Given the description of an element on the screen output the (x, y) to click on. 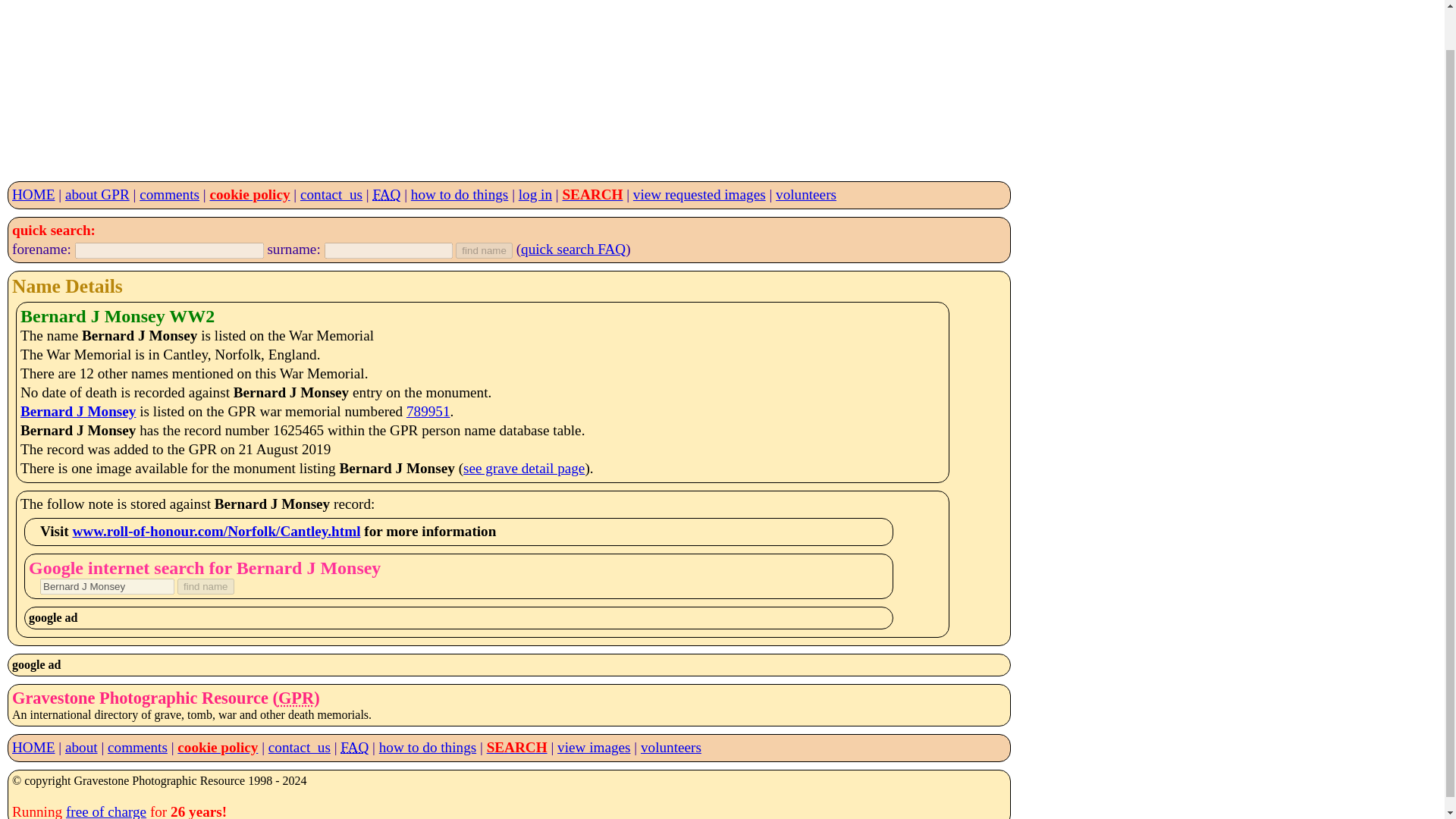
Bernard J Monsey (107, 586)
how to do things (427, 747)
789951 (427, 411)
find name (483, 250)
cookie policy (217, 747)
HOME (33, 194)
Frequently Asked Questions (354, 747)
SEARCH (516, 747)
find name (205, 586)
view requested images (699, 194)
